Given the description of an element on the screen output the (x, y) to click on. 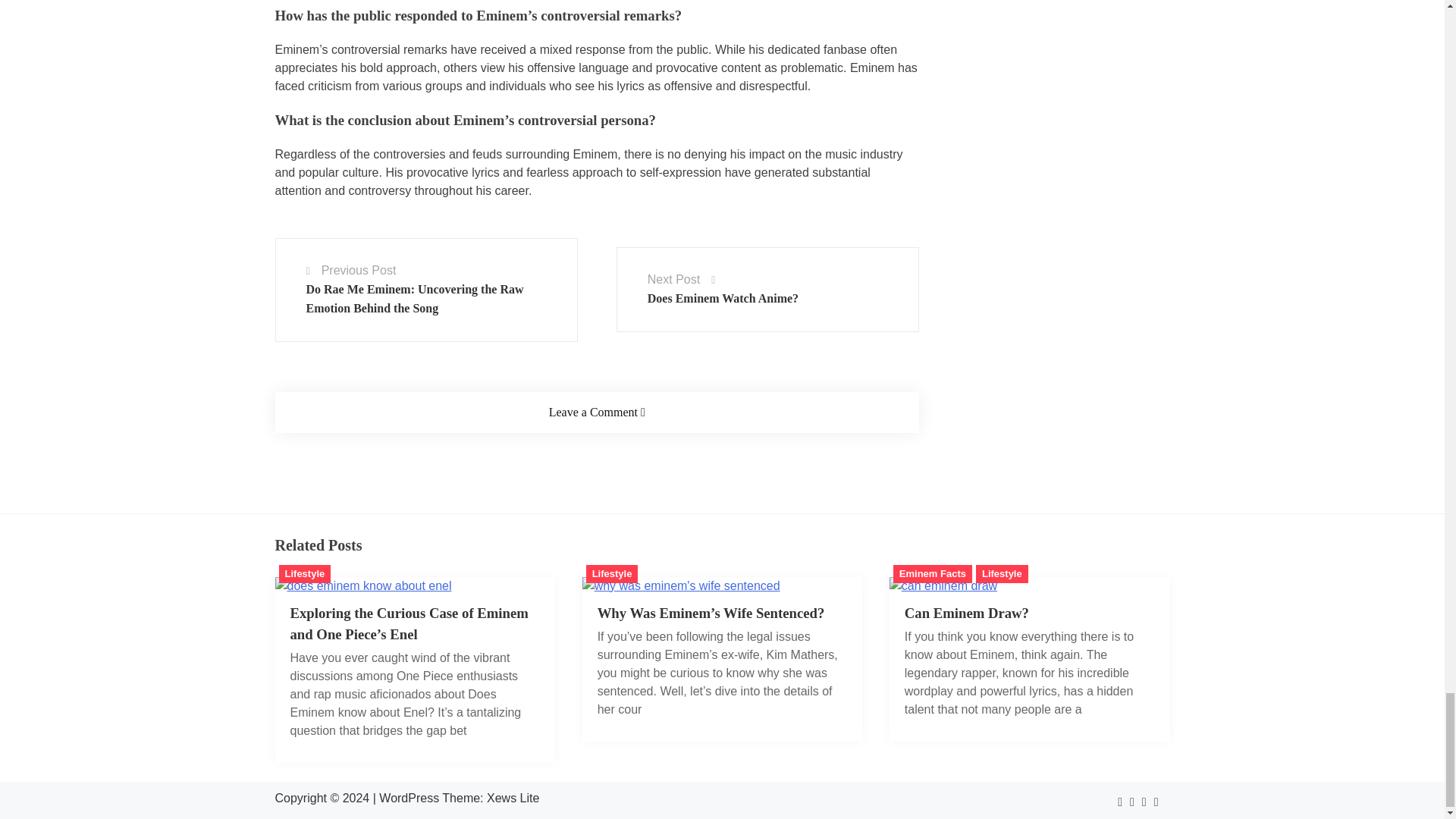
Does Eminem Watch Anime? (722, 297)
Can Eminem Draw? (943, 585)
Do Rae Me Eminem: Uncovering the Raw Emotion Behind the Song (414, 297)
Lifestyle (1001, 574)
Eminem Facts (932, 574)
Can Eminem Draw? (966, 612)
Next Post (673, 278)
Lifestyle (305, 574)
Lifestyle (612, 574)
Previous Post (358, 269)
Xews Lite (512, 797)
